Given the description of an element on the screen output the (x, y) to click on. 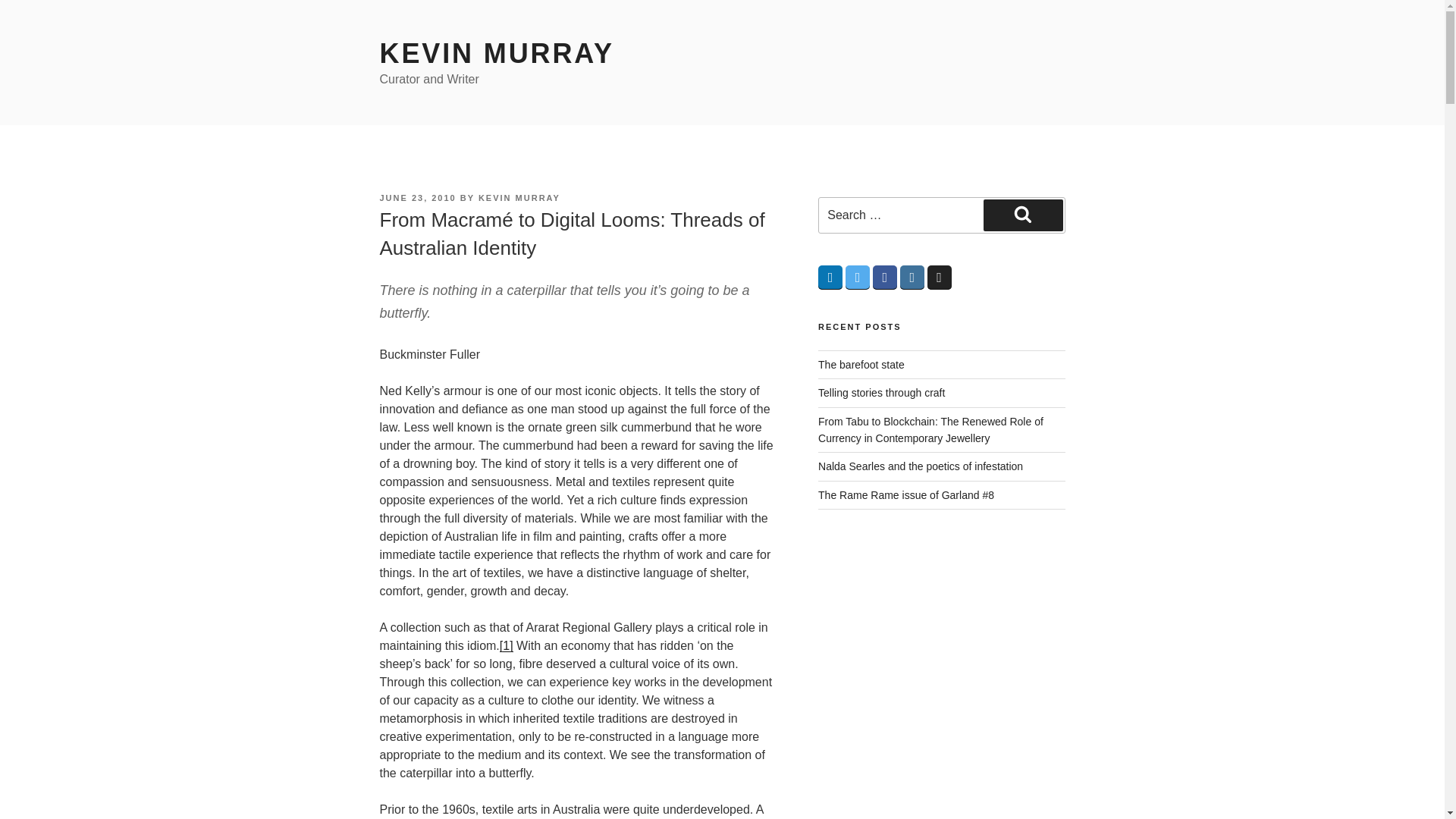
Facebook (884, 277)
Twitter (857, 277)
The barefoot state (861, 364)
Instagram (911, 277)
LinkedIn (830, 277)
KEVIN MURRAY (495, 52)
Search (1023, 214)
Telling stories through craft (881, 392)
KEVIN MURRAY (519, 197)
JUNE 23, 2010 (416, 197)
Nalda Searles and the poetics of infestation (920, 466)
Medium (939, 277)
